Given the description of an element on the screen output the (x, y) to click on. 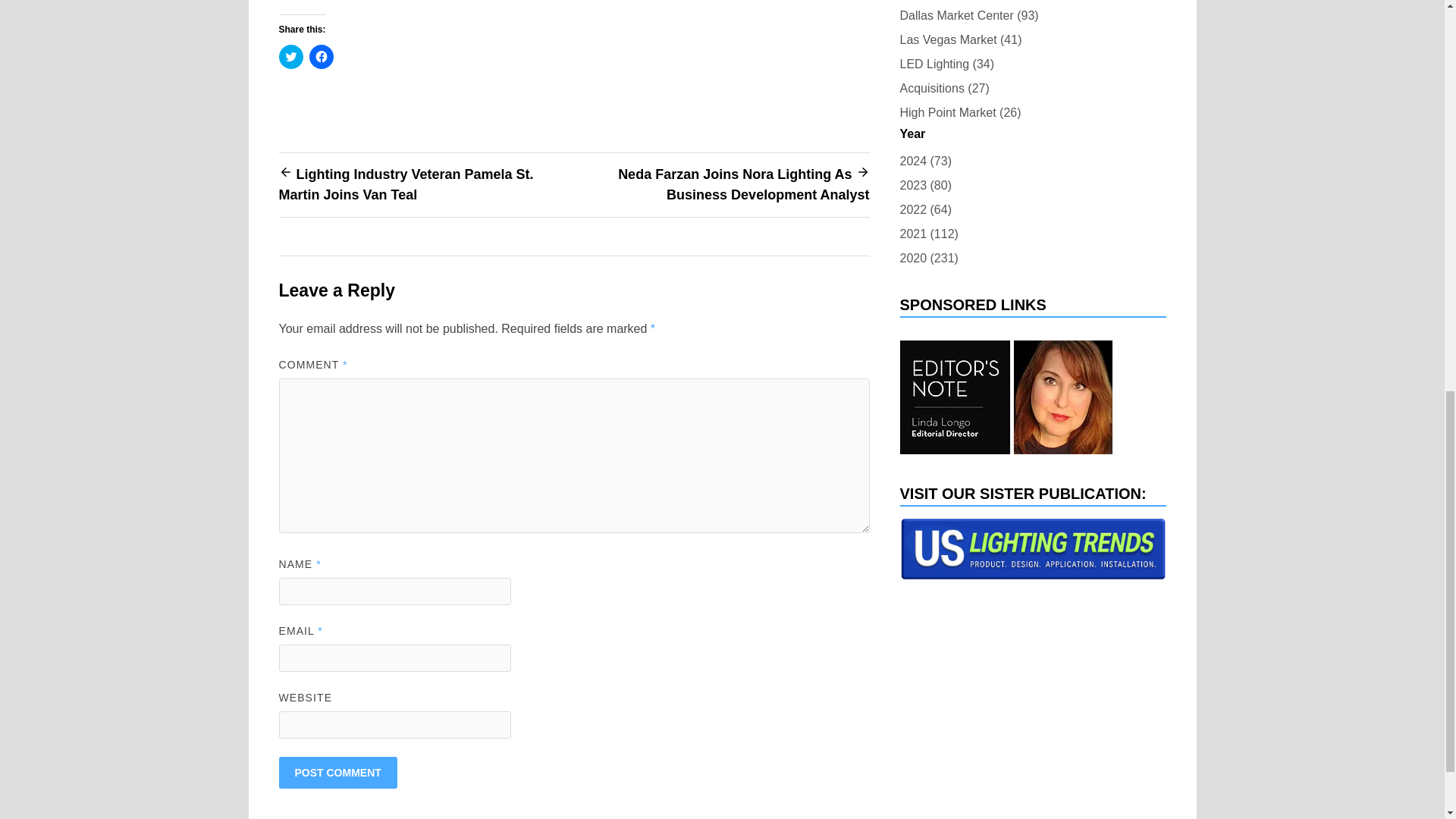
Click to share on Facebook (320, 56)
Post Comment (338, 772)
Click to share on Twitter (290, 56)
Post Comment (338, 772)
Lighting Industry Veteran Pamela St. Martin Joins Van Teal (406, 184)
